Given the description of an element on the screen output the (x, y) to click on. 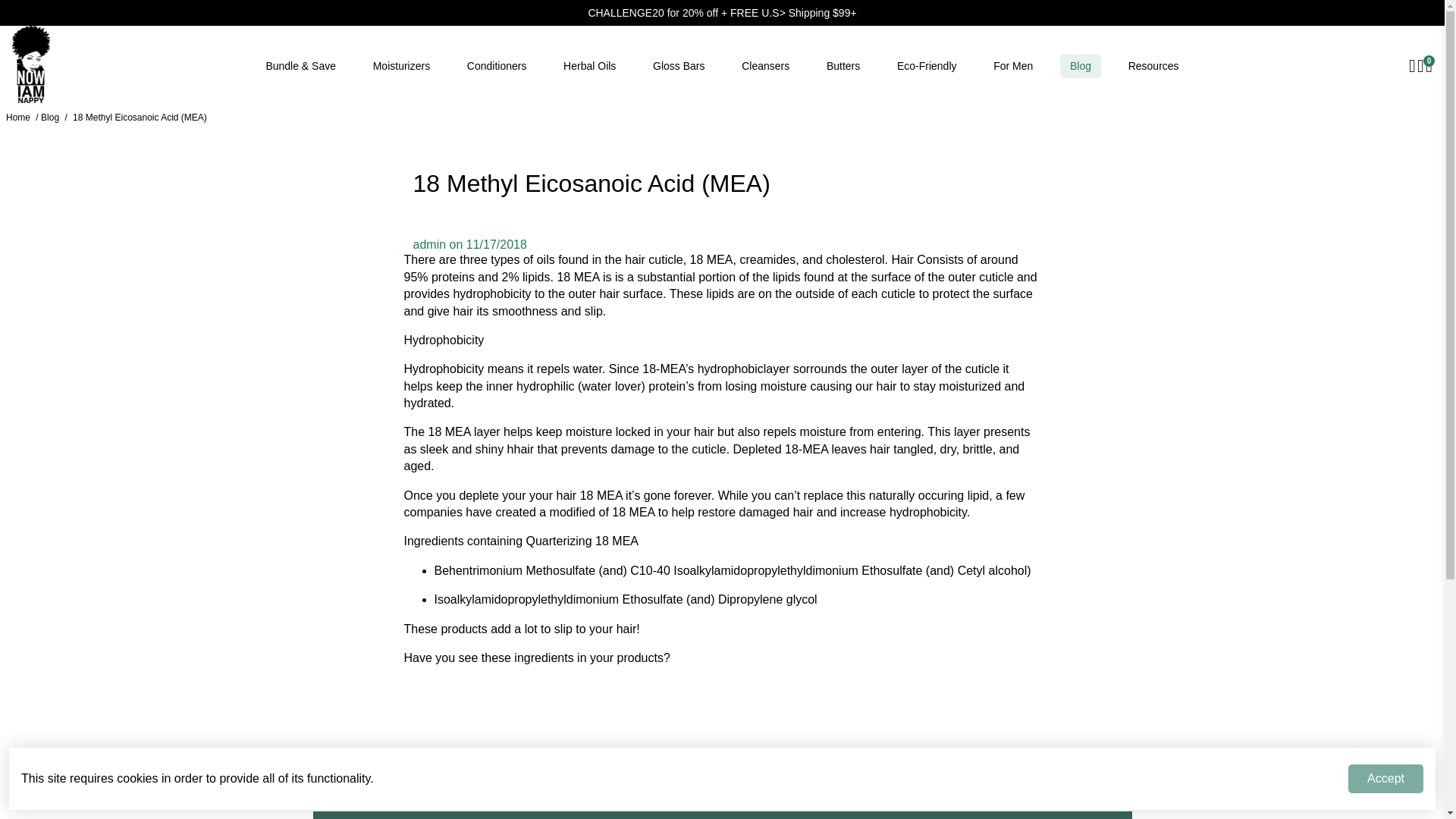
Cleansers (765, 66)
Conditioners (496, 66)
Resources (1153, 66)
Moisturizers (401, 66)
For Men (1013, 66)
Butters (842, 66)
Gloss Bars (678, 66)
Eco-Friendly (927, 66)
Herbal Oils (589, 66)
Home (17, 117)
Blog (49, 117)
Home (17, 117)
Blog (1080, 66)
